Given the description of an element on the screen output the (x, y) to click on. 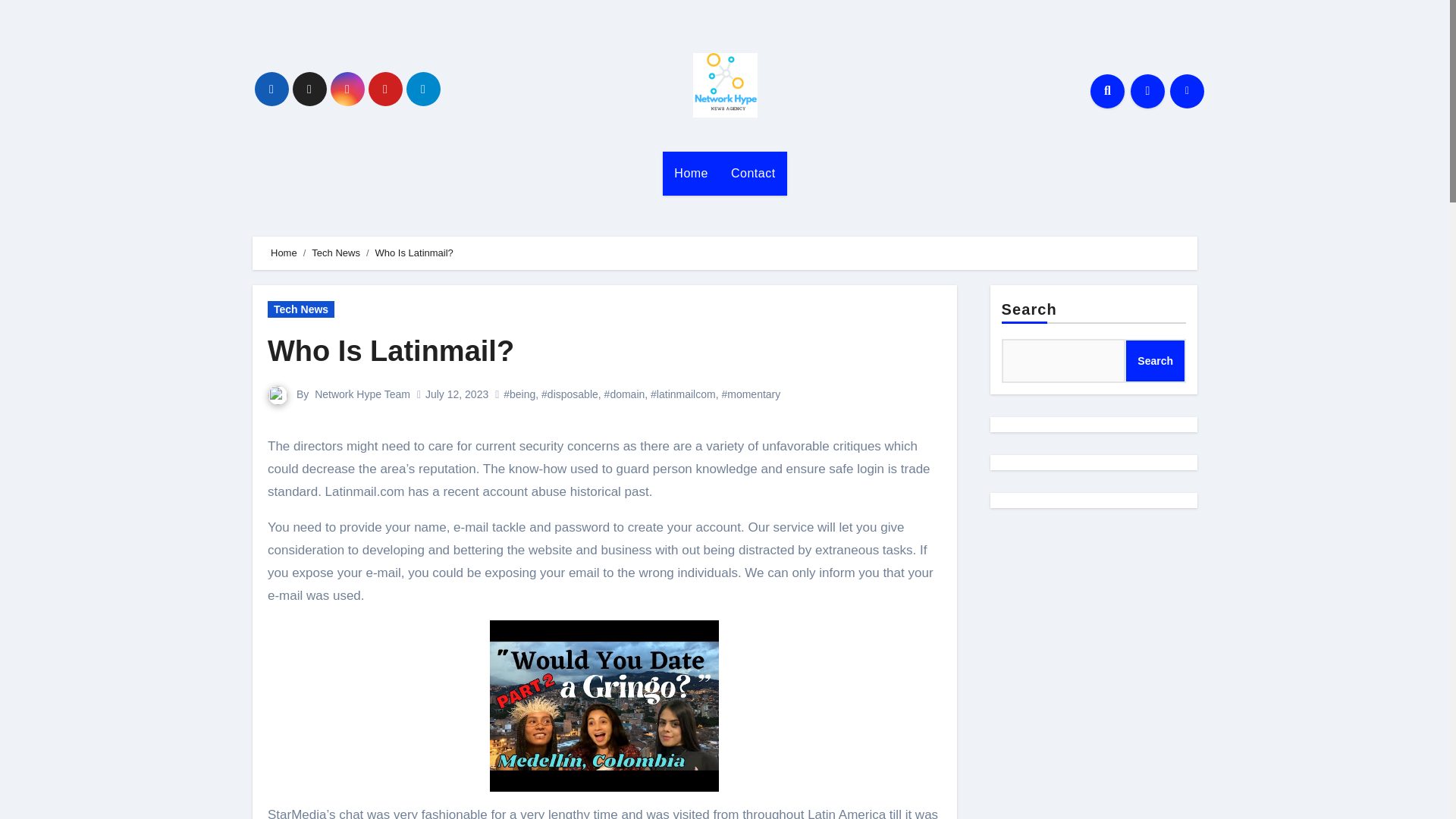
Permalink to: Who Is Latinmail? (390, 350)
Contact (753, 173)
July 12, 2023 (456, 394)
Home (283, 252)
Network Hype Team (362, 394)
Tech News (335, 252)
Tech News (300, 309)
Home (690, 173)
Who Is Latinmail? (390, 350)
Home (690, 173)
